Given the description of an element on the screen output the (x, y) to click on. 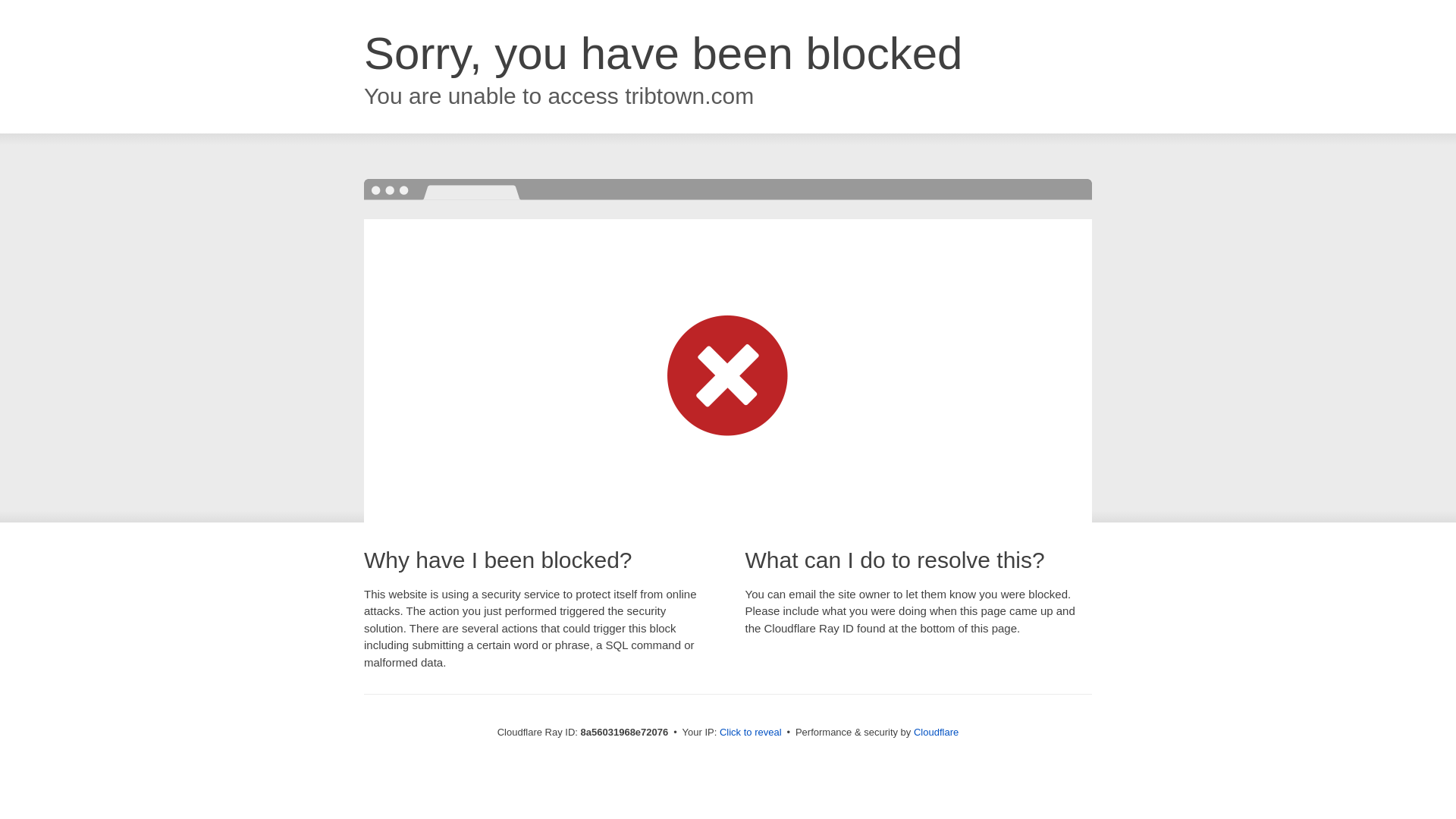
Cloudflare (936, 731)
Click to reveal (750, 732)
